Given the description of an element on the screen output the (x, y) to click on. 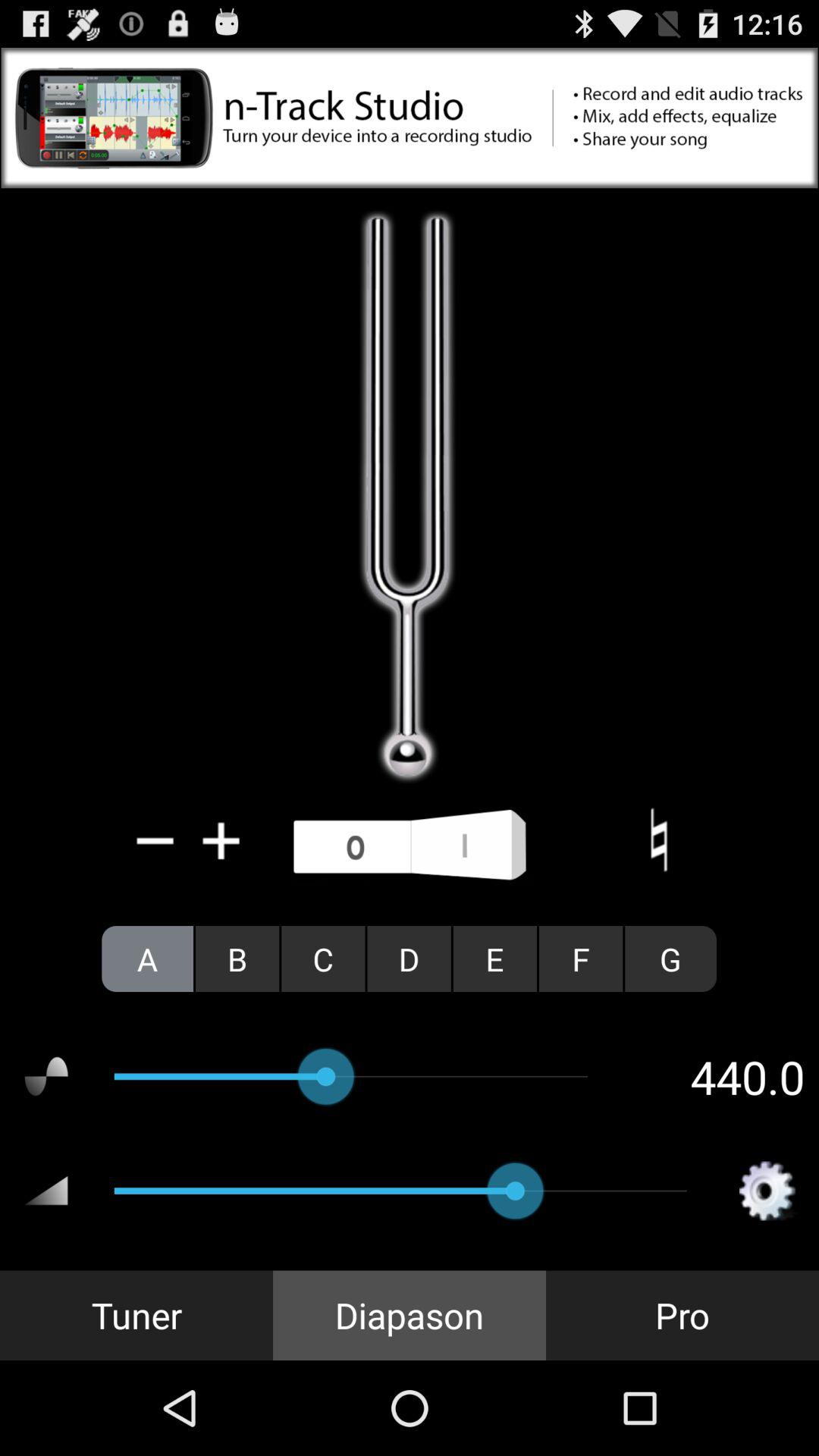
change scale (658, 840)
